Given the description of an element on the screen output the (x, y) to click on. 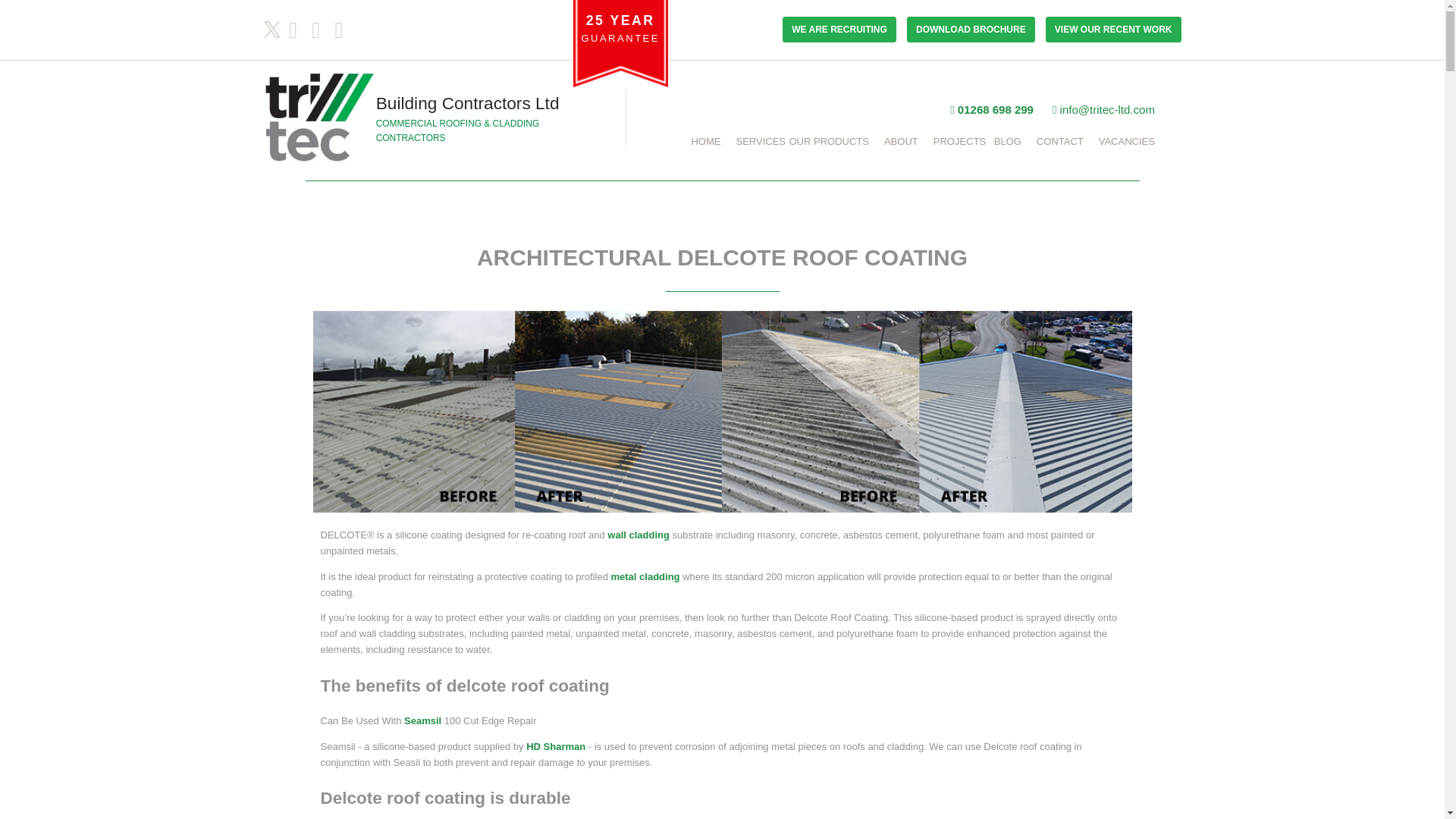
01268 698 299 (991, 108)
PROJECTS (959, 140)
DOWNLOAD BROCHURE (971, 29)
SERVICES (760, 140)
CONTACT (1059, 140)
VIEW OUR RECENT WORK (1112, 29)
ABOUT (900, 140)
HOME (705, 140)
WE ARE RECRUITING (836, 27)
WE ARE RECRUITING (839, 29)
DOWNLOAD BROCHURE (968, 27)
VACANCIES (1126, 140)
OUR PRODUCTS (828, 140)
BLOG (1008, 140)
VIEW OUR RECENT WORK (1109, 27)
